Given the description of an element on the screen output the (x, y) to click on. 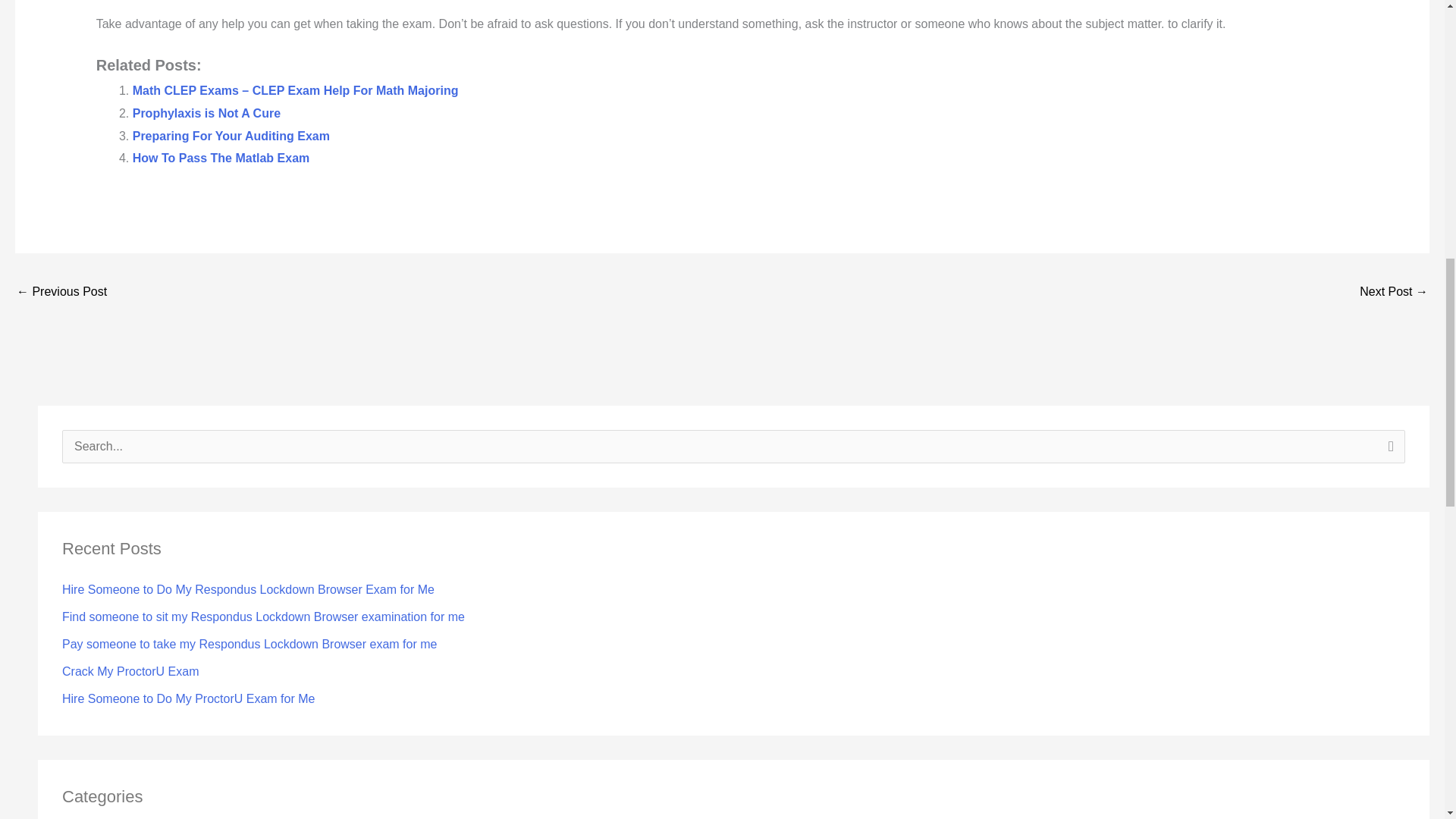
How To Pass The Matlab Exam (221, 157)
How To Pass The Matlab Exam (221, 157)
Prophylaxis is Not A Cure (206, 113)
Preparing For Your Auditing Exam (231, 135)
Take the Examination Centers - Why Do I Need to Study? (61, 293)
Preparing For Your Auditing Exam (231, 135)
Crack My ProctorU Exam (130, 671)
Prophylaxis is Not A Cure (206, 113)
Hire Someone to Do My ProctorU Exam for Me (188, 698)
Hire Someone to Do My Respondus Lockdown Browser Exam for Me (247, 589)
